Given the description of an element on the screen output the (x, y) to click on. 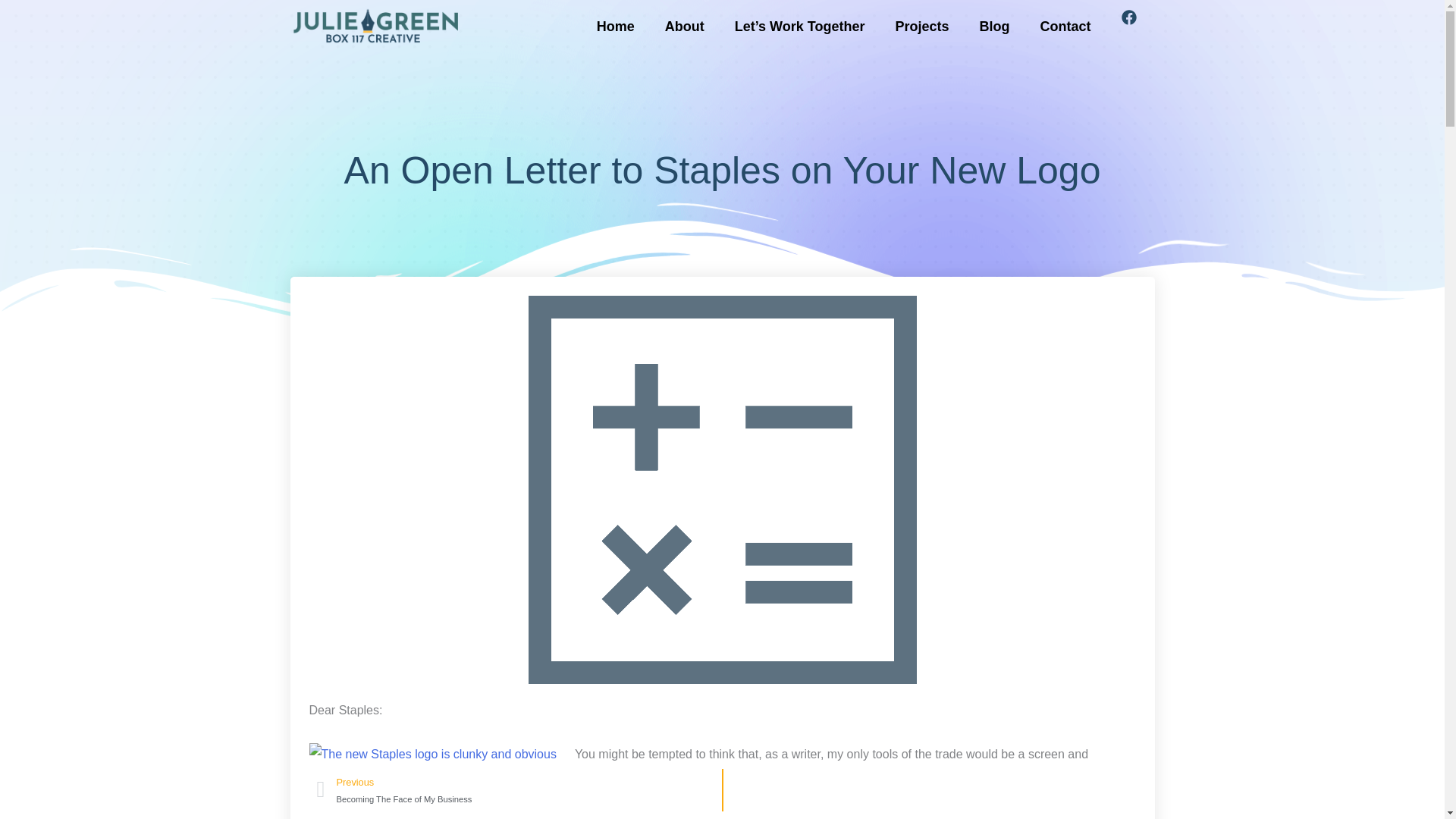
Projects (519, 790)
Facebook (921, 26)
About (1137, 26)
Blog (684, 26)
cropped-favicon-free-img.png (994, 26)
Contact (614, 26)
